Given the description of an element on the screen output the (x, y) to click on. 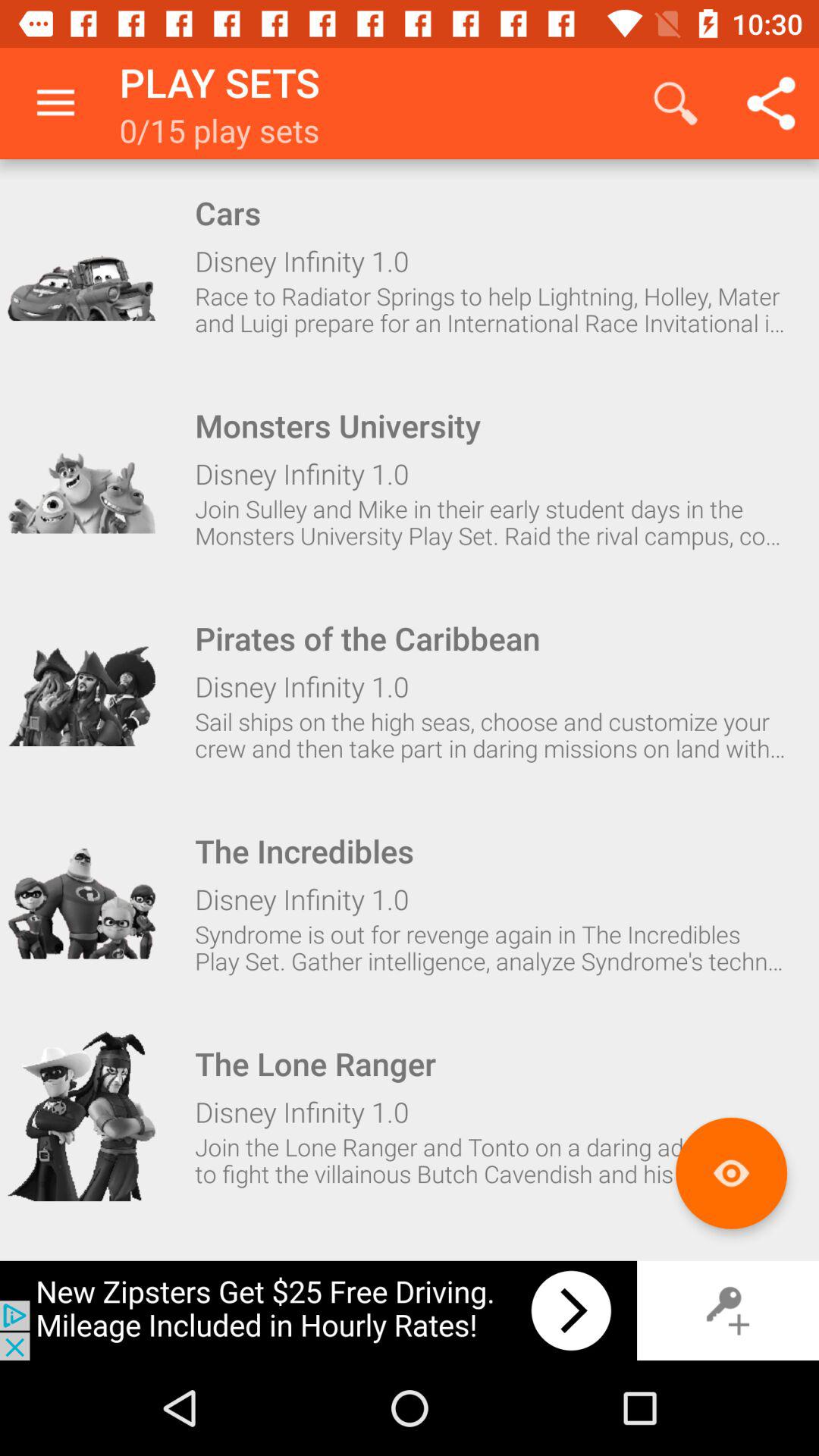
choose this (81, 690)
